Given the description of an element on the screen output the (x, y) to click on. 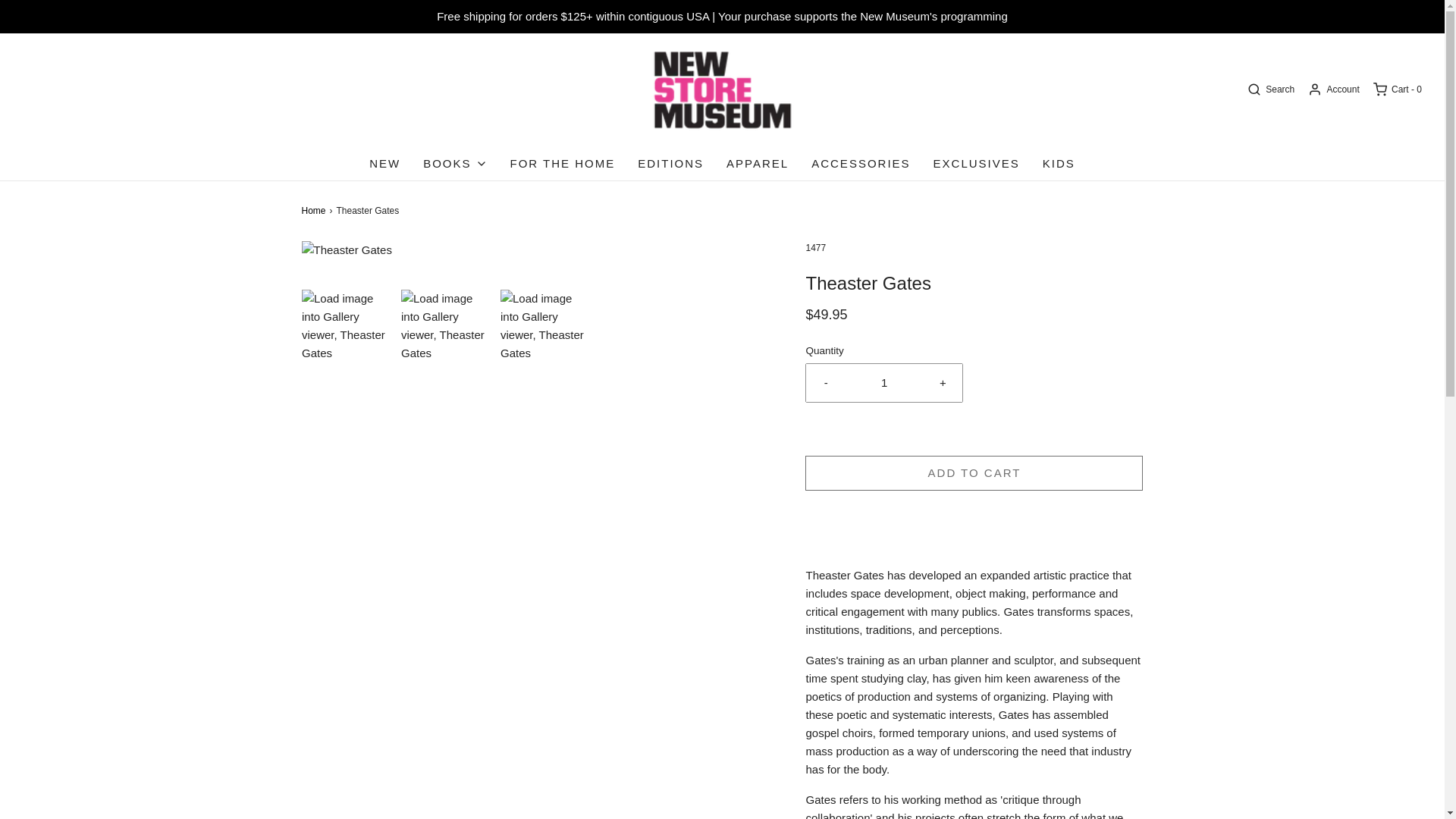
Search (1269, 89)
1 (884, 382)
Search (1269, 89)
Cart - 0 (1396, 89)
BOOKS (454, 163)
Account (1332, 89)
Log in (1332, 89)
Back to the frontpage (315, 210)
NEW (384, 163)
Cart (1396, 89)
